Given the description of an element on the screen output the (x, y) to click on. 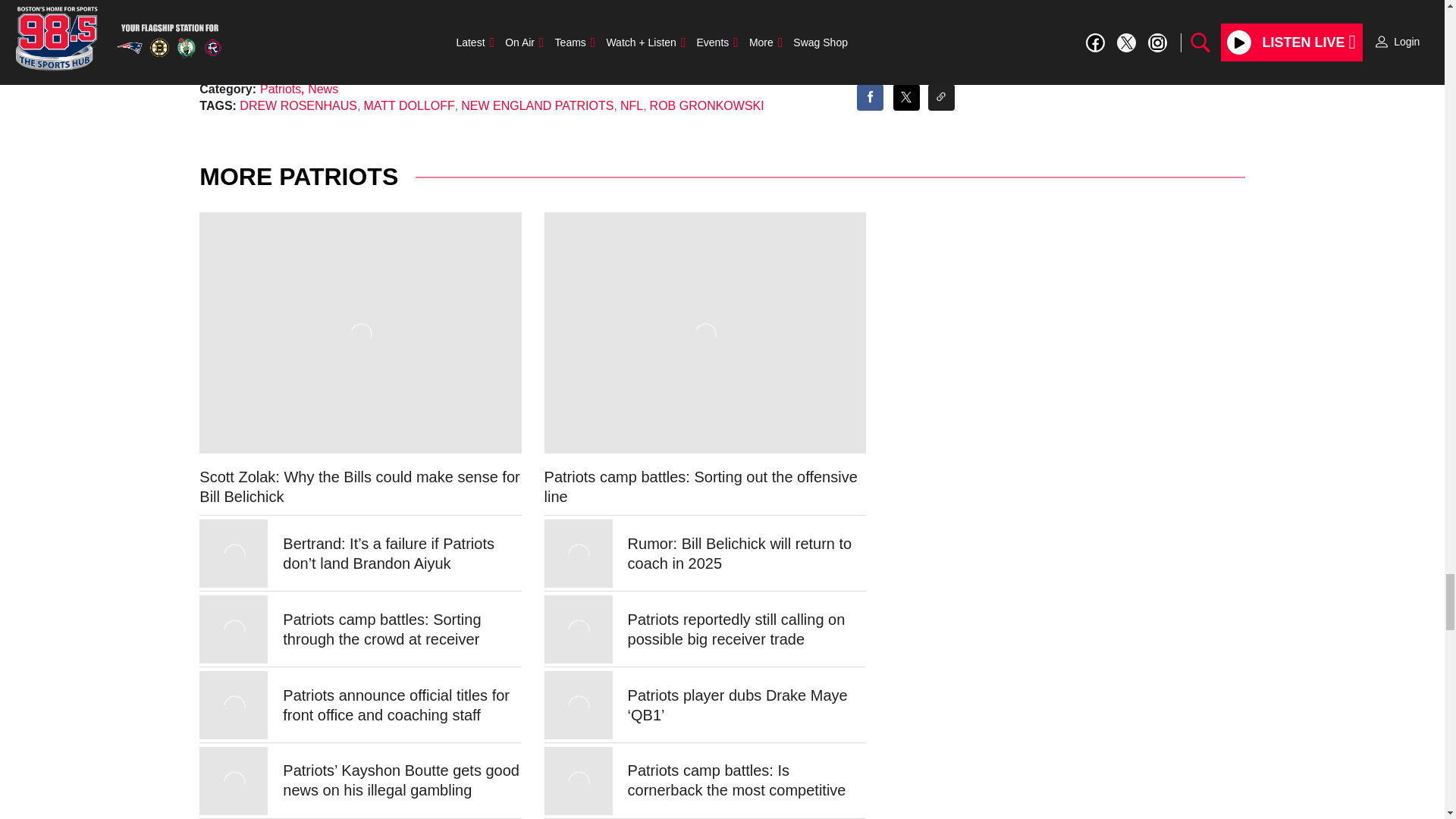
Matt Dolloff (278, 70)
